Given the description of an element on the screen output the (x, y) to click on. 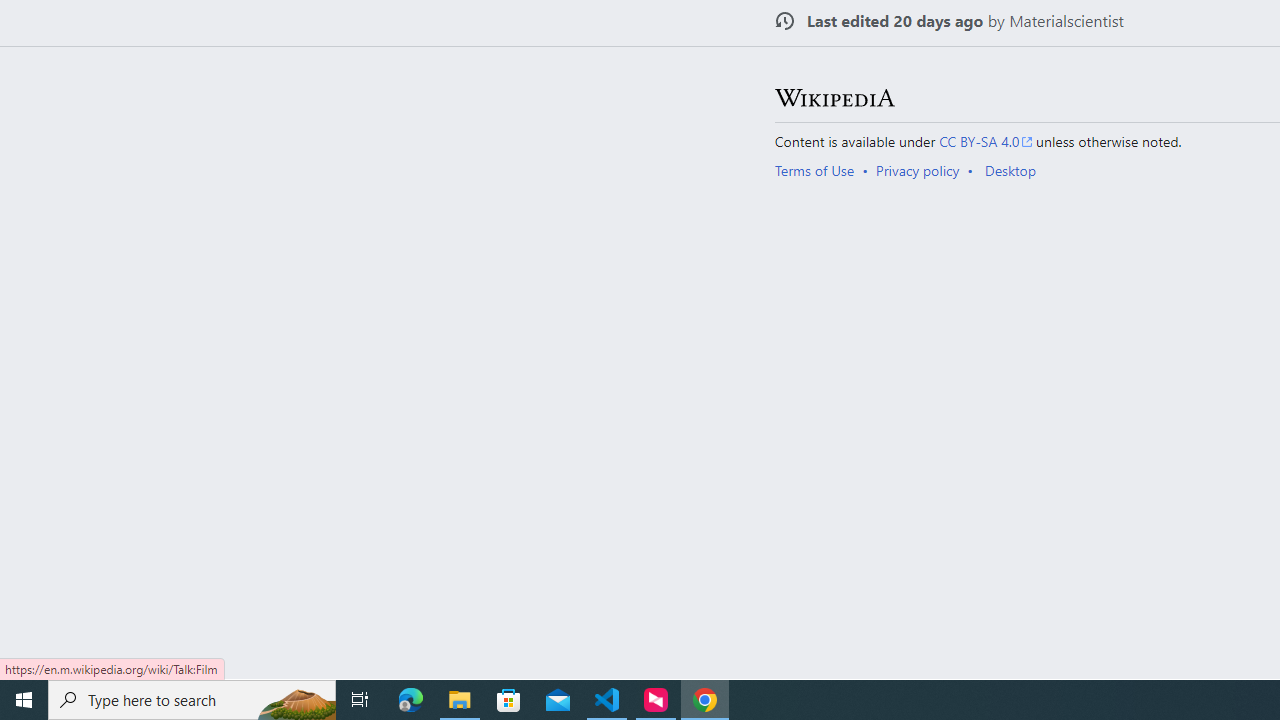
AutomationID: footer-places-privacy (923, 169)
CC BY-SA 4.0 (985, 141)
Desktop (1010, 169)
AutomationID: footer-places-terms-use (820, 169)
Privacy policy (917, 169)
Wikipedia (834, 97)
Terms of Use (814, 169)
AutomationID: footer-places-desktop-toggle (1014, 169)
